Given the description of an element on the screen output the (x, y) to click on. 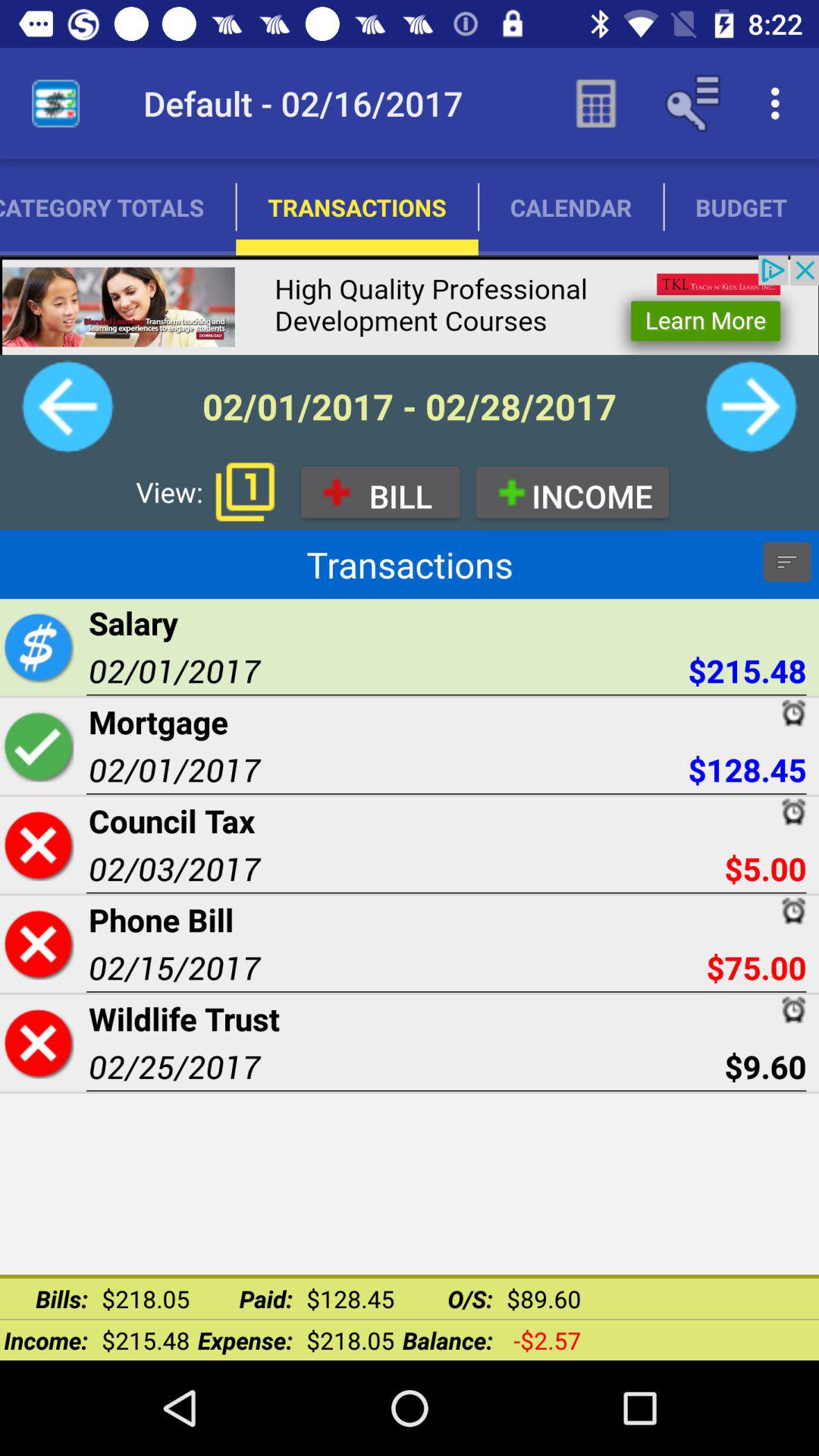
select when payment is made (37, 746)
